Given the description of an element on the screen output the (x, y) to click on. 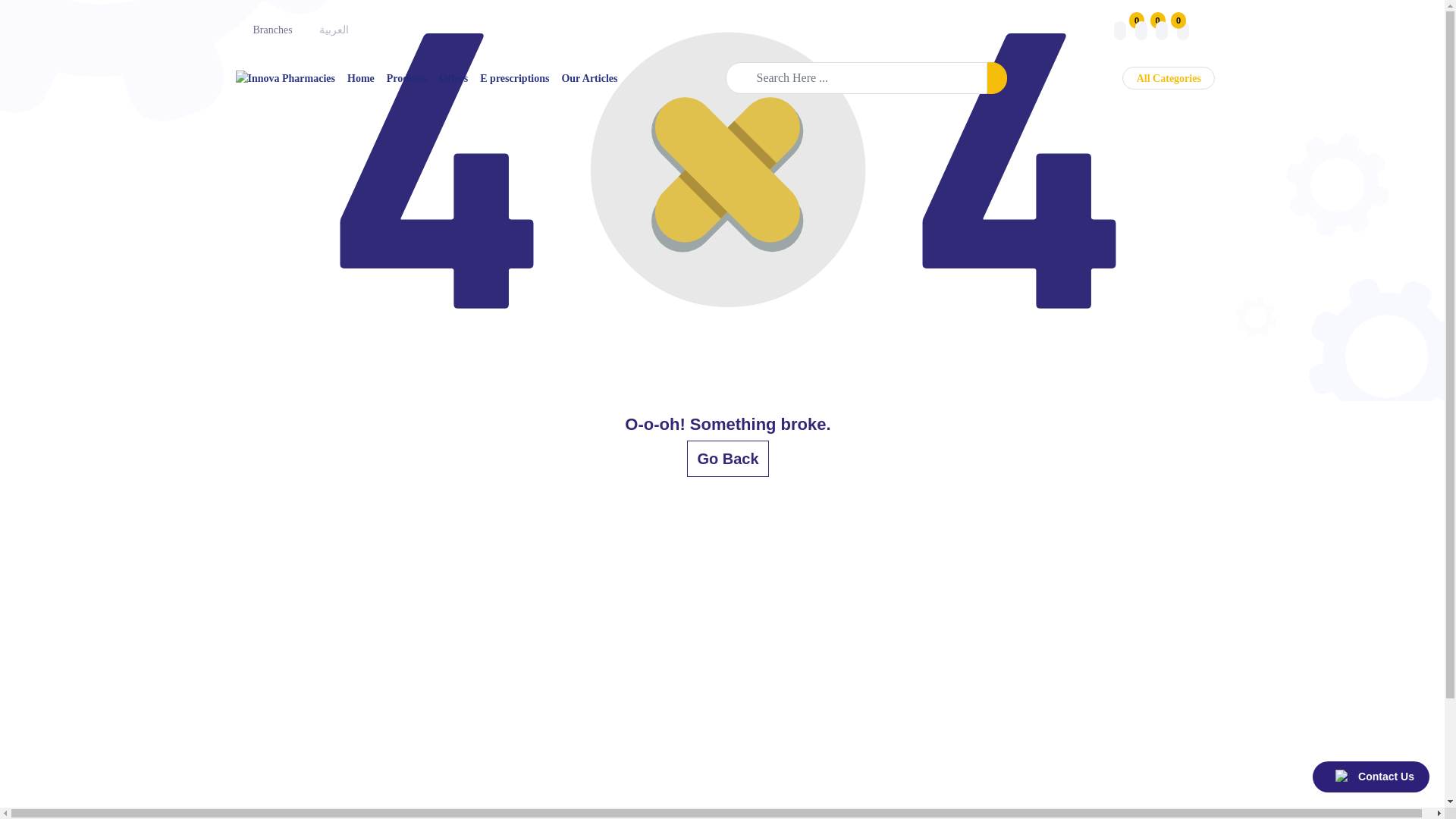
Products (406, 77)
Our Articles (588, 77)
All Categories (1168, 77)
Branches (272, 30)
Branches (272, 30)
E prescriptions (514, 77)
Offers (453, 77)
